Given the description of an element on the screen output the (x, y) to click on. 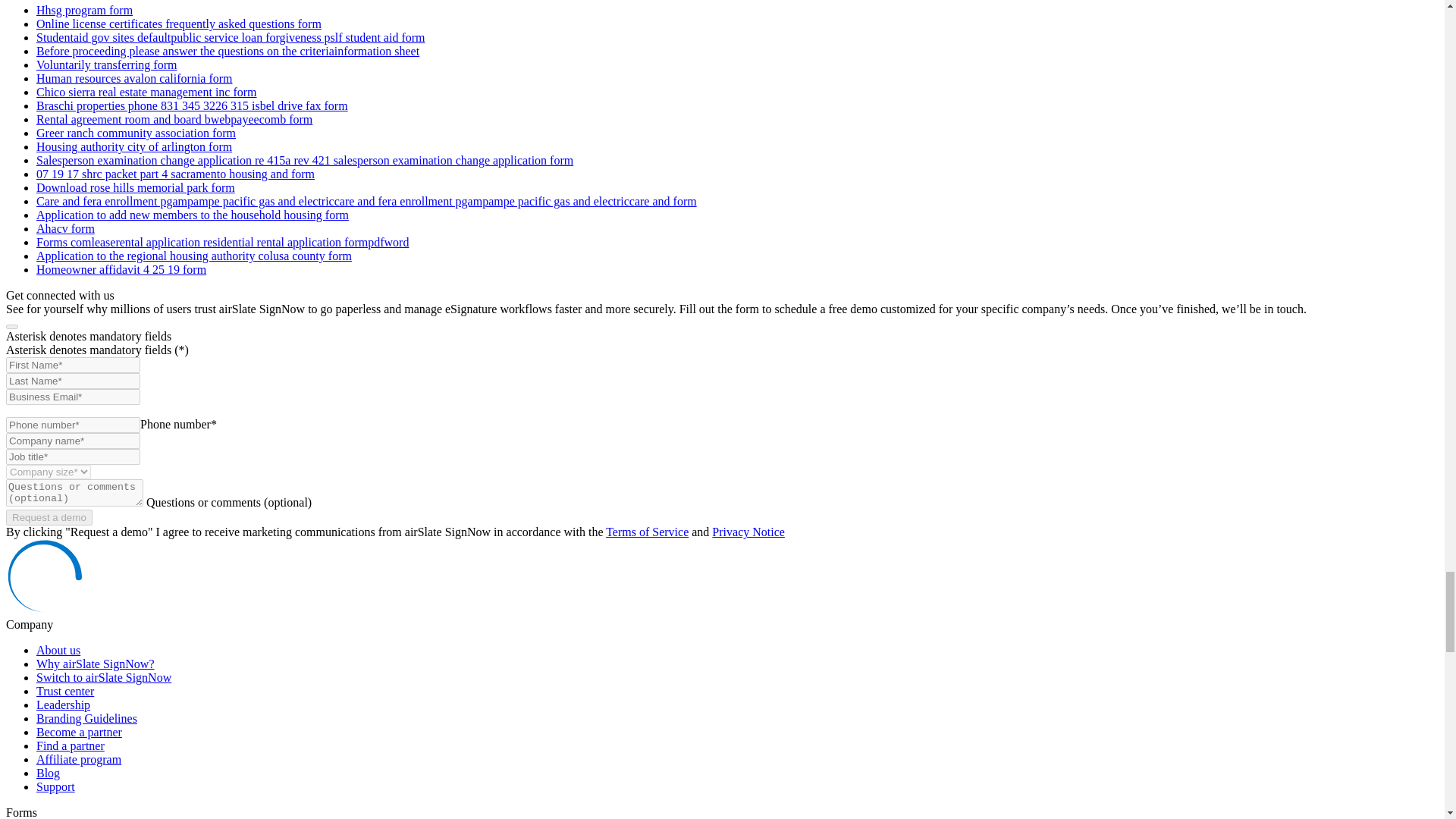
Go to the leadership page (63, 704)
Go to the Why  airSlate SignNow ? page (95, 663)
Go to the About Us page (58, 649)
Go to the trust center page (65, 690)
Go to the Brand page (86, 717)
Go to the Migrate page (103, 676)
